Given the description of an element on the screen output the (x, y) to click on. 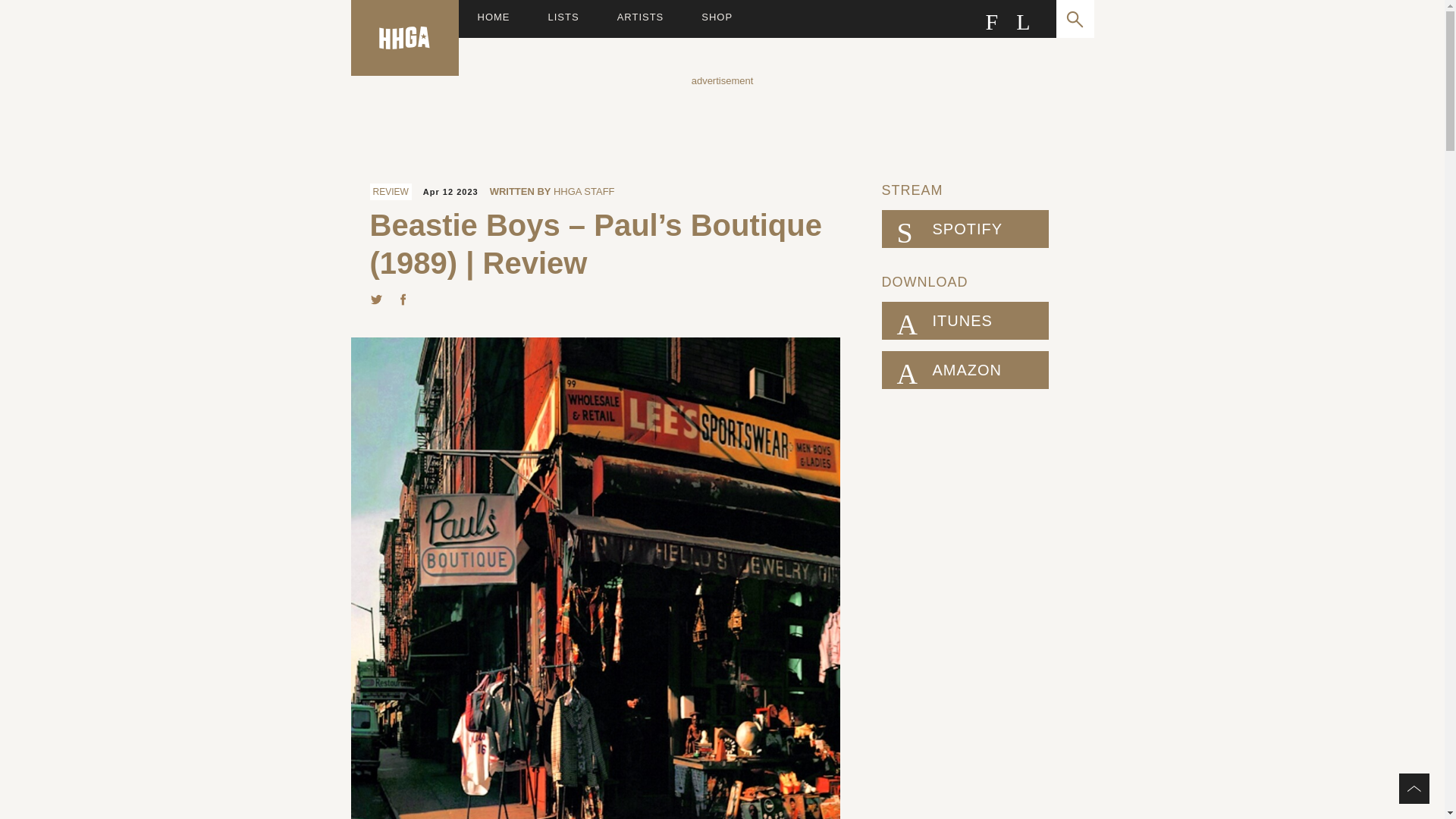
Scroll To Top (1414, 788)
Advertisement (721, 121)
SPOTIFY (964, 228)
Search (1074, 18)
Scroll To Top (1414, 788)
HOME (494, 18)
ITUNES (964, 320)
HHGA STAFF (583, 191)
ARTISTS (640, 18)
Scroll To Top (1414, 788)
Posts by HHGA Staff (583, 191)
AMAZON (964, 370)
